Given the description of an element on the screen output the (x, y) to click on. 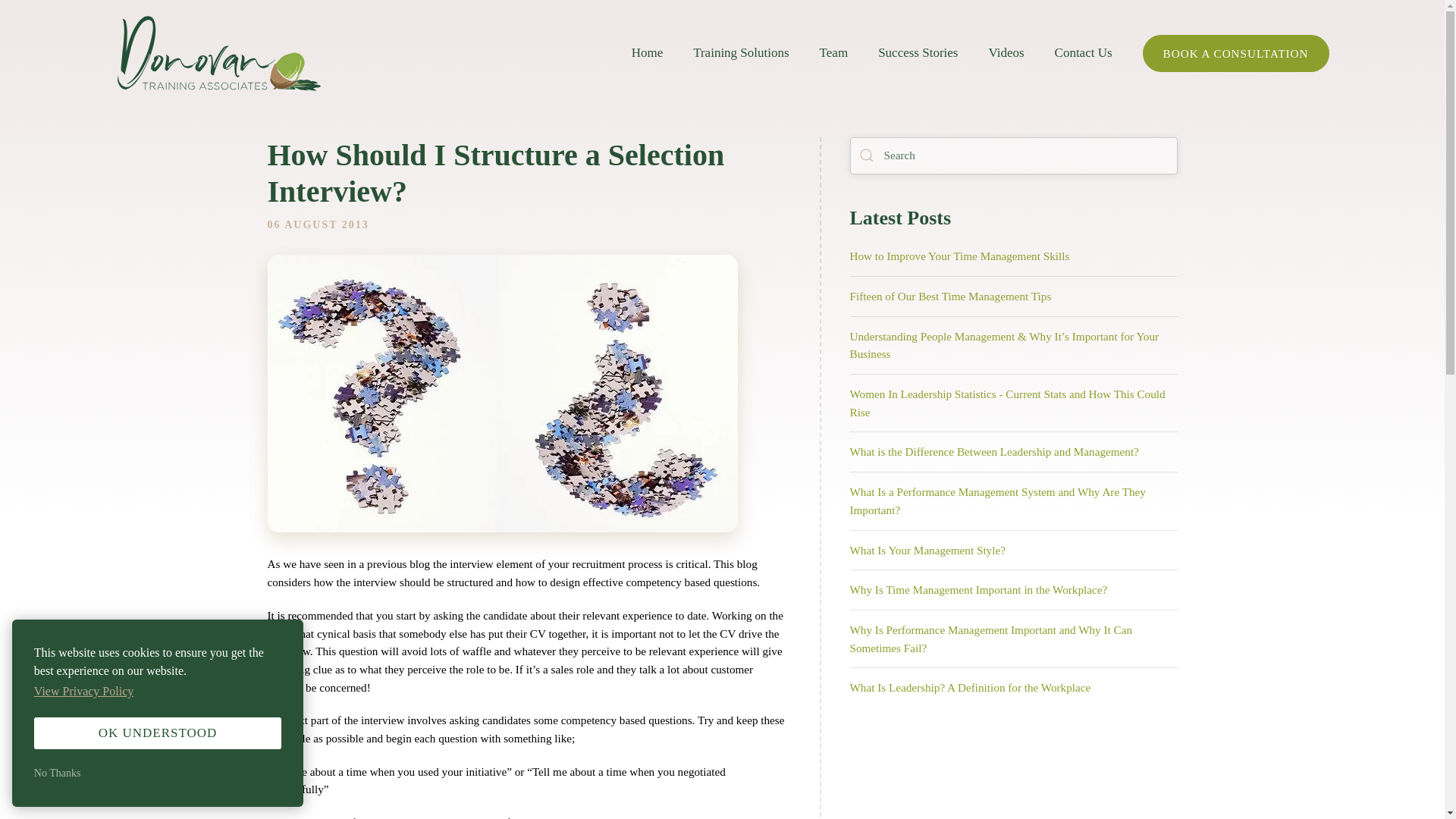
View Privacy Policy (84, 691)
Videos (1005, 53)
OK UNDERSTOOD (157, 733)
Training Solutions (741, 53)
Home (647, 53)
Success Stories (917, 53)
No Thanks (157, 773)
